Given the description of an element on the screen output the (x, y) to click on. 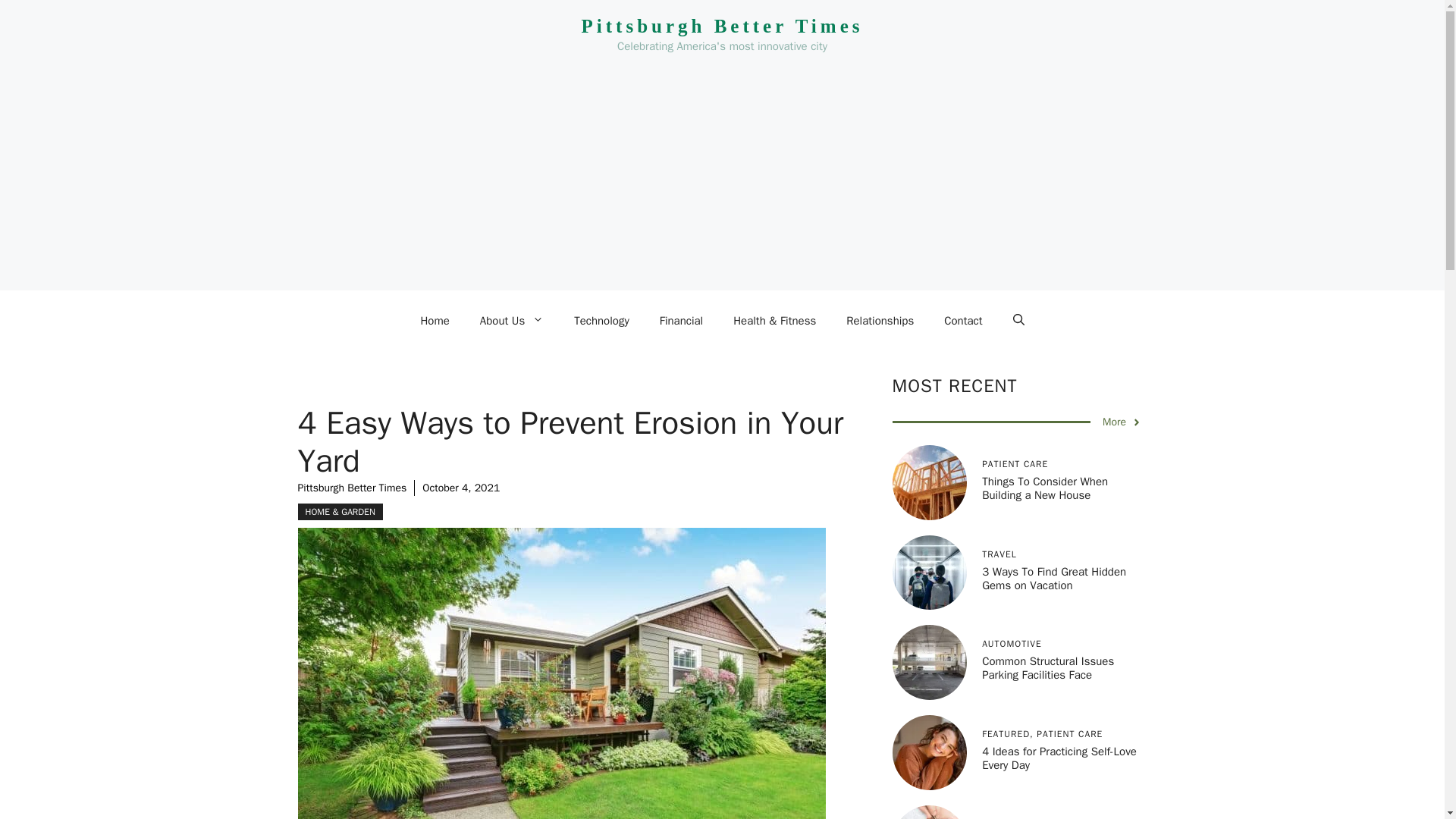
Financial (682, 320)
More (1121, 421)
4 Ideas for Practicing Self-Love Every Day (1059, 758)
Technology (602, 320)
Home (434, 320)
Common Structural Issues Parking Facilities Face (1047, 667)
Pittsburgh Better Times (721, 25)
3 Ways To Find Great Hidden Gems on Vacation (1053, 578)
Pittsburgh Better Times (351, 487)
Contact (962, 320)
Things To Consider When Building a New House (1044, 488)
About Us (511, 320)
Relationships (879, 320)
